Given the description of an element on the screen output the (x, y) to click on. 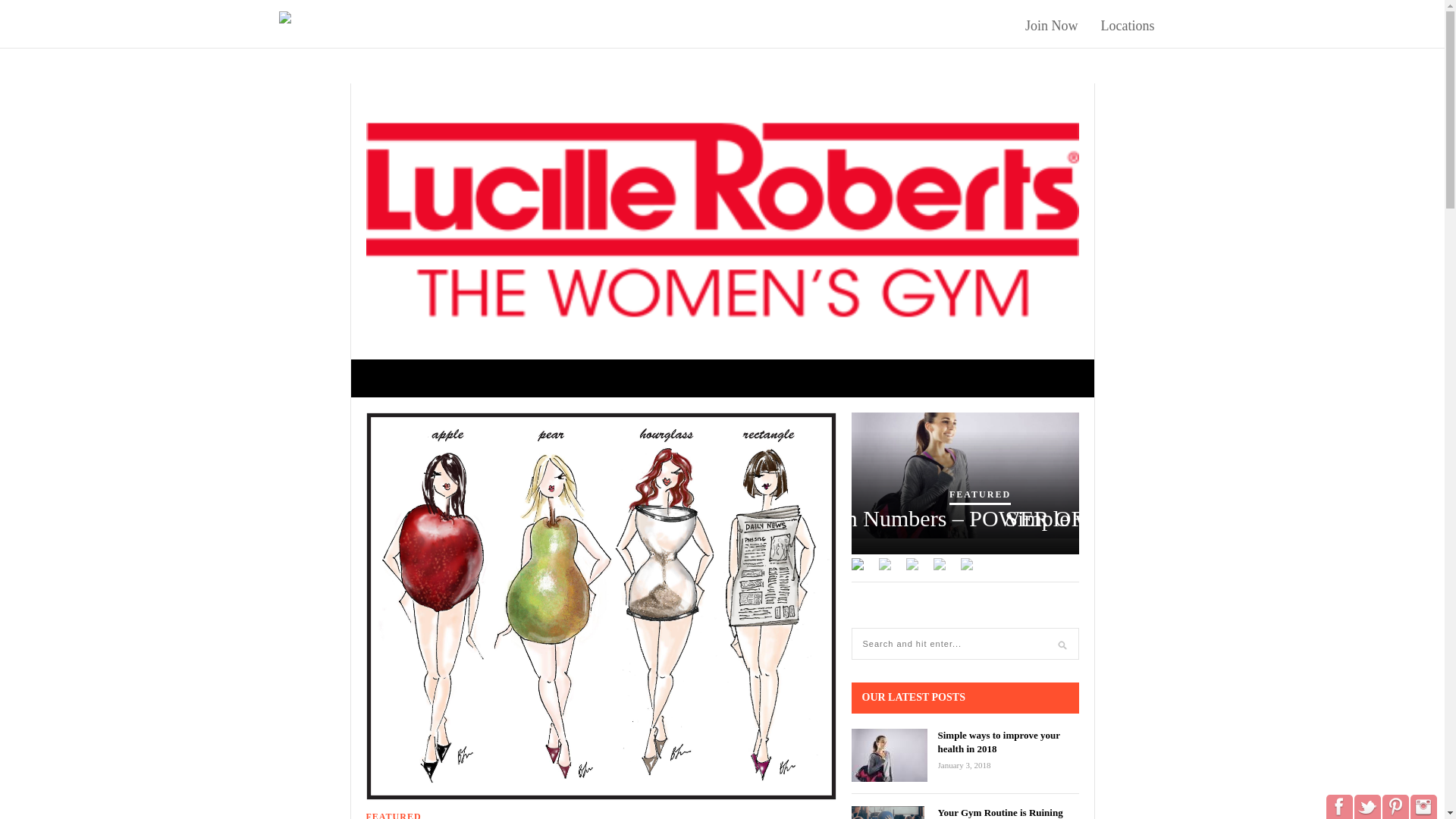
FEATURED (979, 496)
FEATURED (392, 815)
Join Now (1051, 25)
Locations (1127, 25)
Permanent Link: Simple ways to improve your health in 2018 (998, 741)
